Given the description of an element on the screen output the (x, y) to click on. 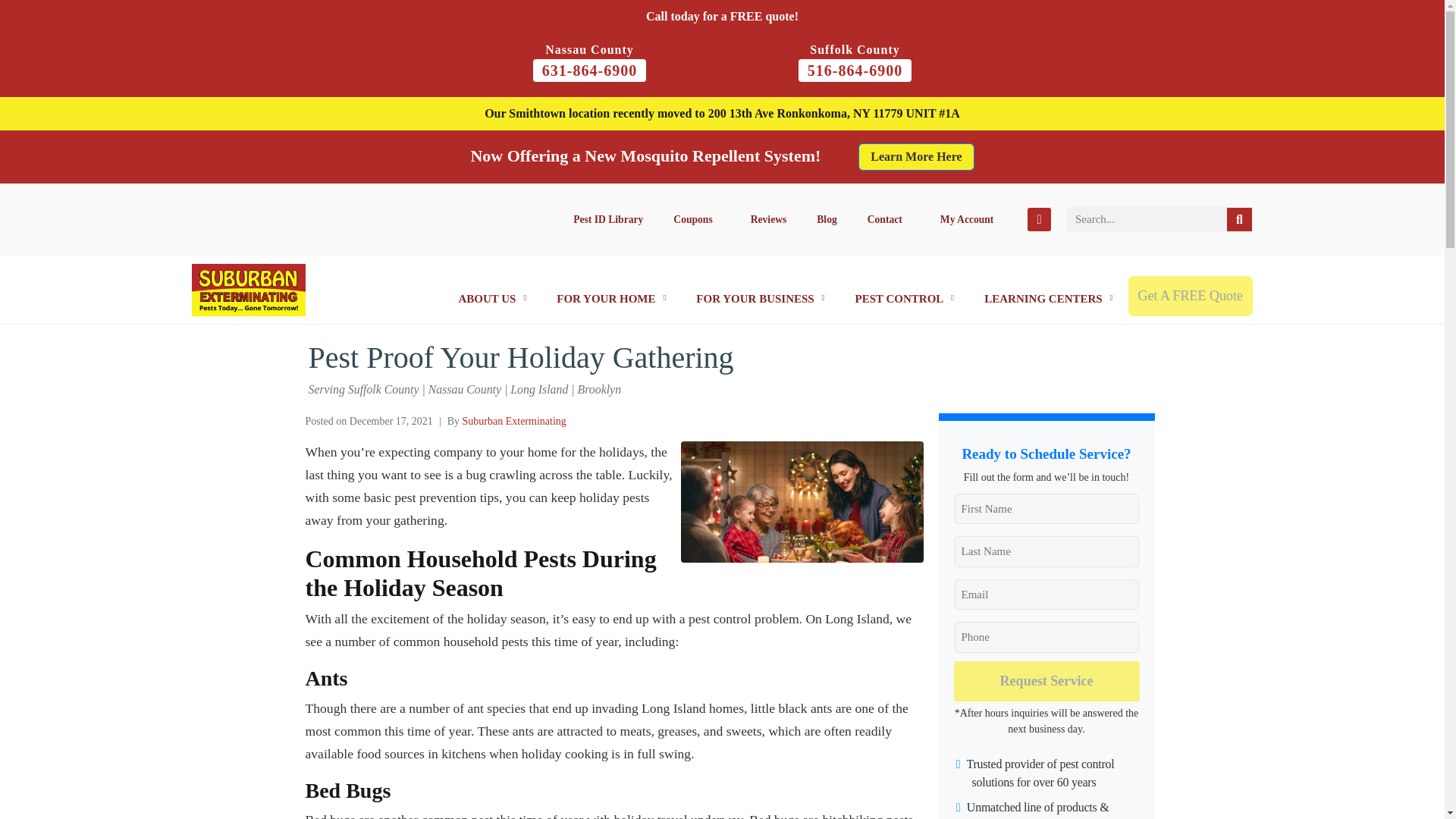
ABOUT US (491, 297)
516-864-6900 (854, 69)
Pest ID Library (607, 218)
Coupons (696, 218)
Learn More Here (916, 156)
Request Service (1046, 680)
FOR YOUR HOME (611, 297)
Contact (887, 218)
Reviews (768, 218)
My Account (966, 218)
